Given the description of an element on the screen output the (x, y) to click on. 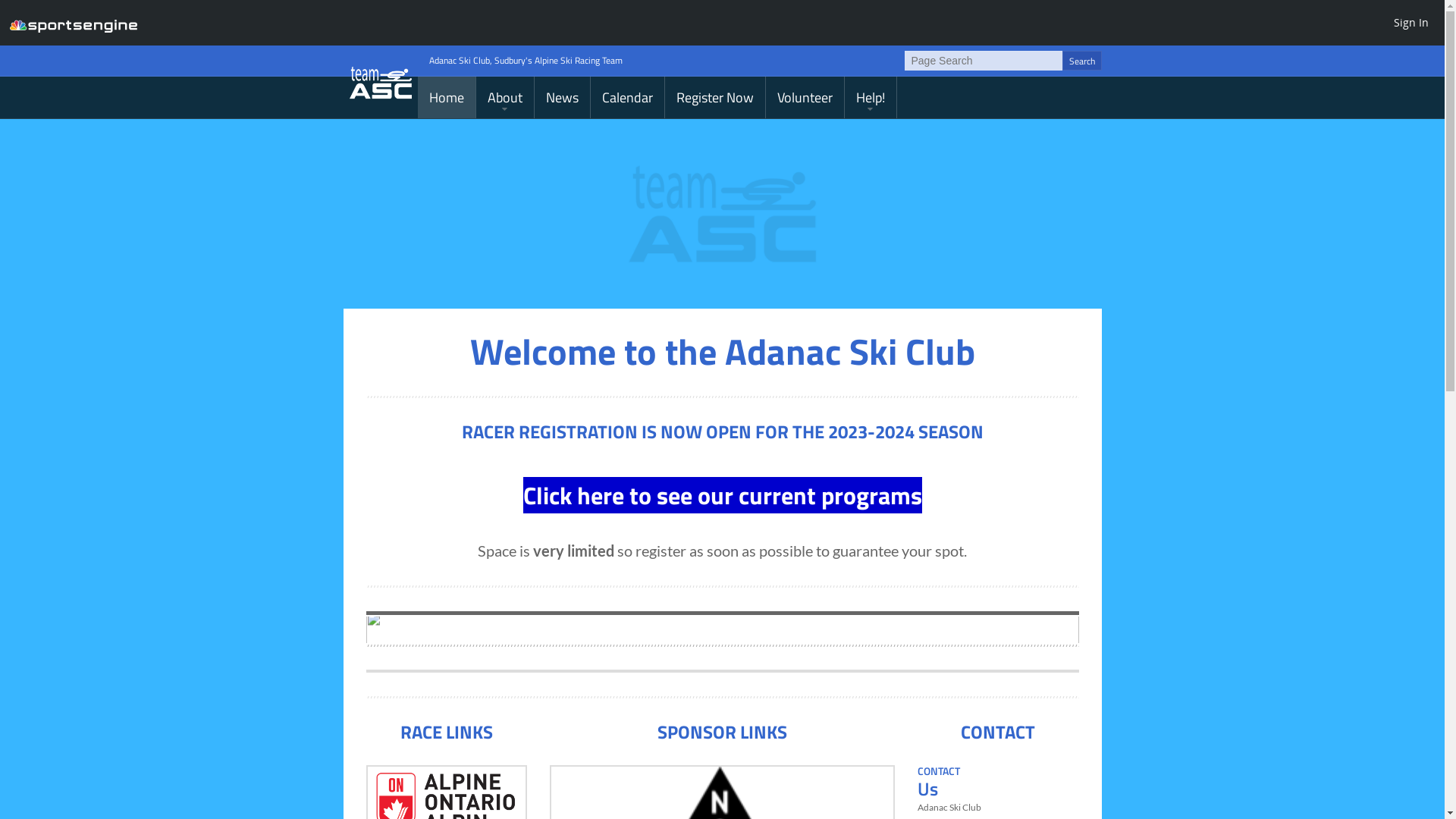
Help! Element type: text (870, 97)
About Element type: text (504, 97)
News Element type: text (561, 97)
Volunteer Element type: text (804, 97)
Register Now Element type: text (714, 97)
Sign In Element type: text (1410, 22)
Click here to see our current programs Element type: text (722, 494)
Calendar Element type: text (626, 97)
SportsEngine Element type: text (73, 22)
Home Element type: text (445, 97)
